Given the description of an element on the screen output the (x, y) to click on. 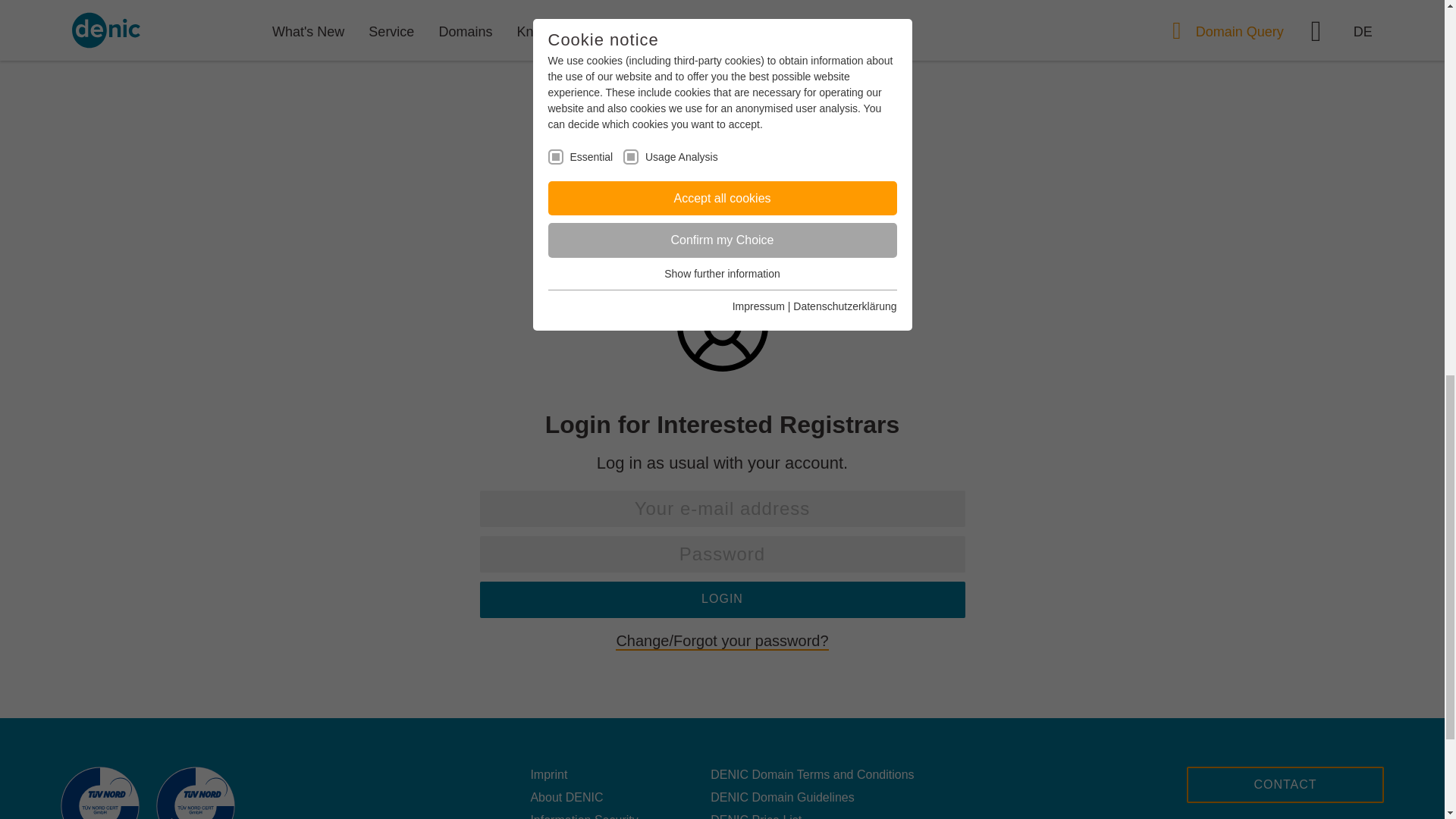
Login (721, 599)
